Given the description of an element on the screen output the (x, y) to click on. 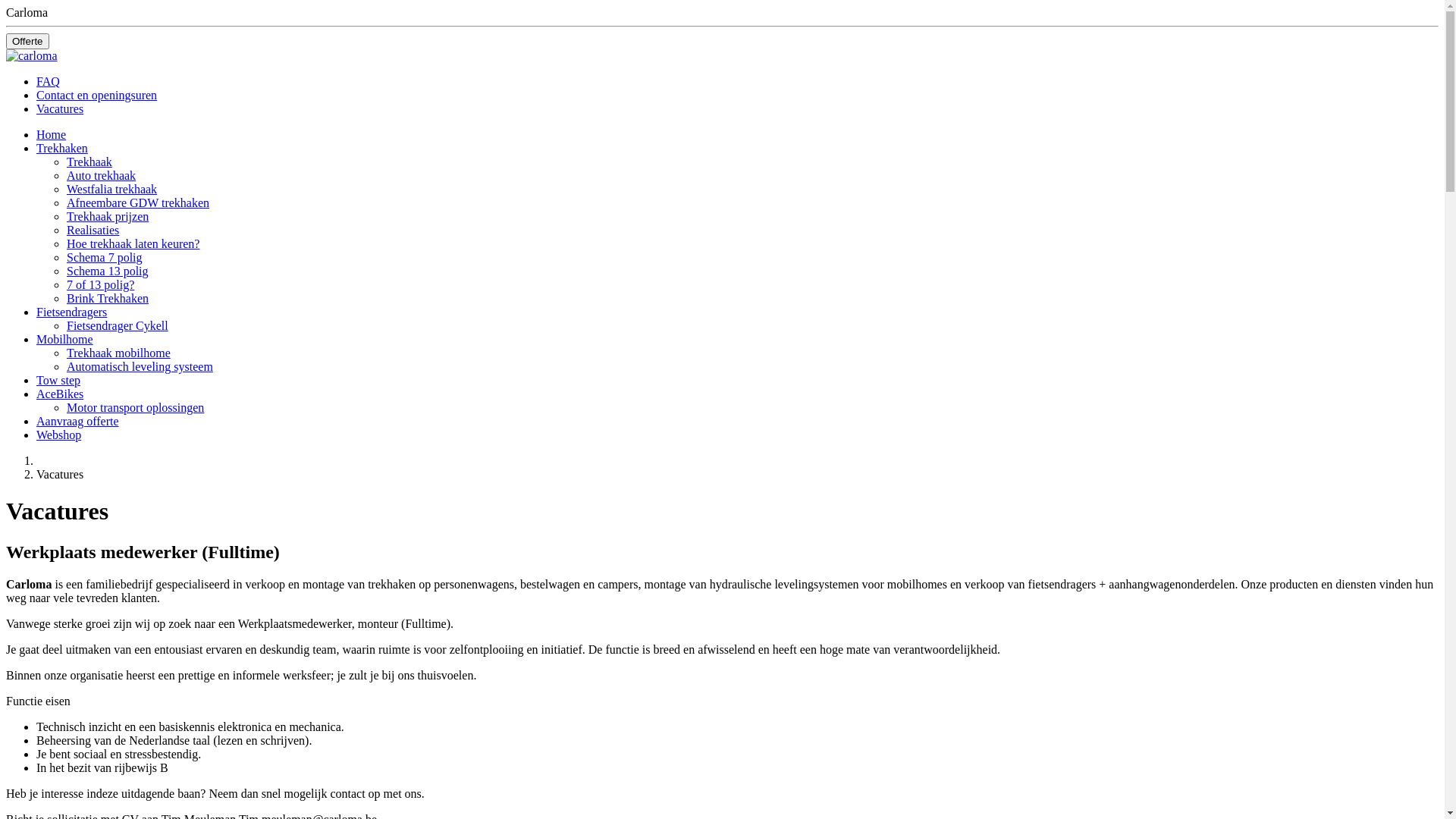
Trekhaak prijzen Element type: text (107, 216)
Trekhaak mobilhome Element type: text (118, 352)
Hoe trekhaak laten keuren? Element type: text (132, 243)
Trekhaken Element type: text (61, 147)
Schema 7 polig Element type: text (104, 257)
Vacatures Element type: text (59, 108)
Fietsendrager Cykell Element type: text (117, 325)
7 of 13 polig? Element type: text (100, 284)
Contact en openingsuren Element type: text (96, 94)
Trekhaak Element type: text (89, 161)
FAQ Element type: text (47, 81)
Offerte Element type: text (27, 41)
Westfalia trekhaak Element type: text (111, 188)
Afneembare GDW trekhaken Element type: text (137, 202)
Aanvraag offerte Element type: text (77, 420)
Webshop Element type: text (58, 434)
Fietsendragers Element type: text (71, 311)
Schema 13 polig Element type: text (107, 270)
Motor transport oplossingen Element type: text (134, 407)
Home Element type: text (50, 134)
AceBikes Element type: text (59, 393)
Brink Trekhaken Element type: text (107, 297)
Automatisch leveling systeem Element type: text (139, 366)
Realisaties Element type: text (92, 229)
Tow step Element type: text (58, 379)
Auto trekhaak Element type: text (100, 175)
Mobilhome Element type: text (64, 338)
